Given the description of an element on the screen output the (x, y) to click on. 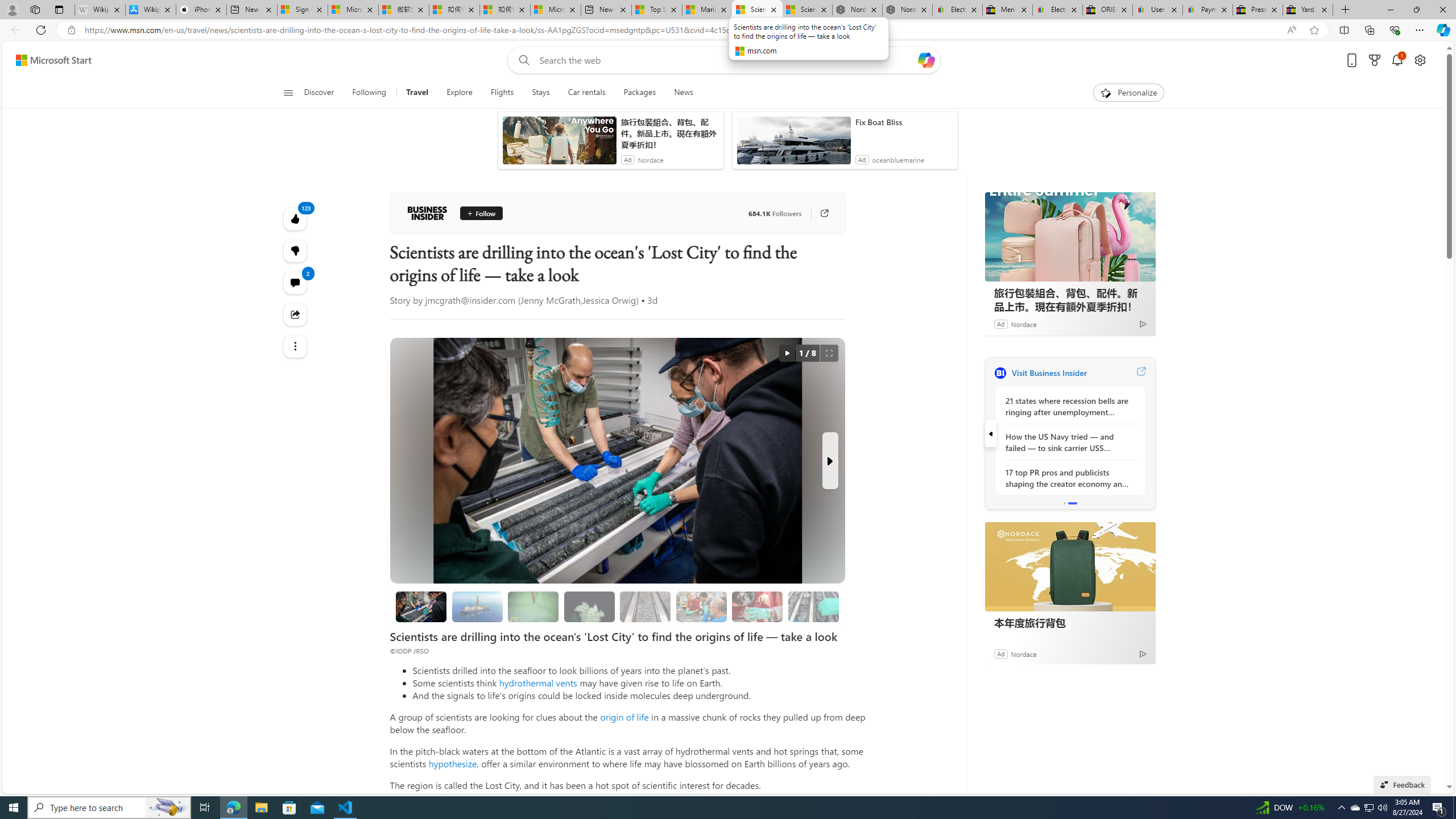
hydrothermal vents (537, 682)
Travel (417, 92)
